Given the description of an element on the screen output the (x, y) to click on. 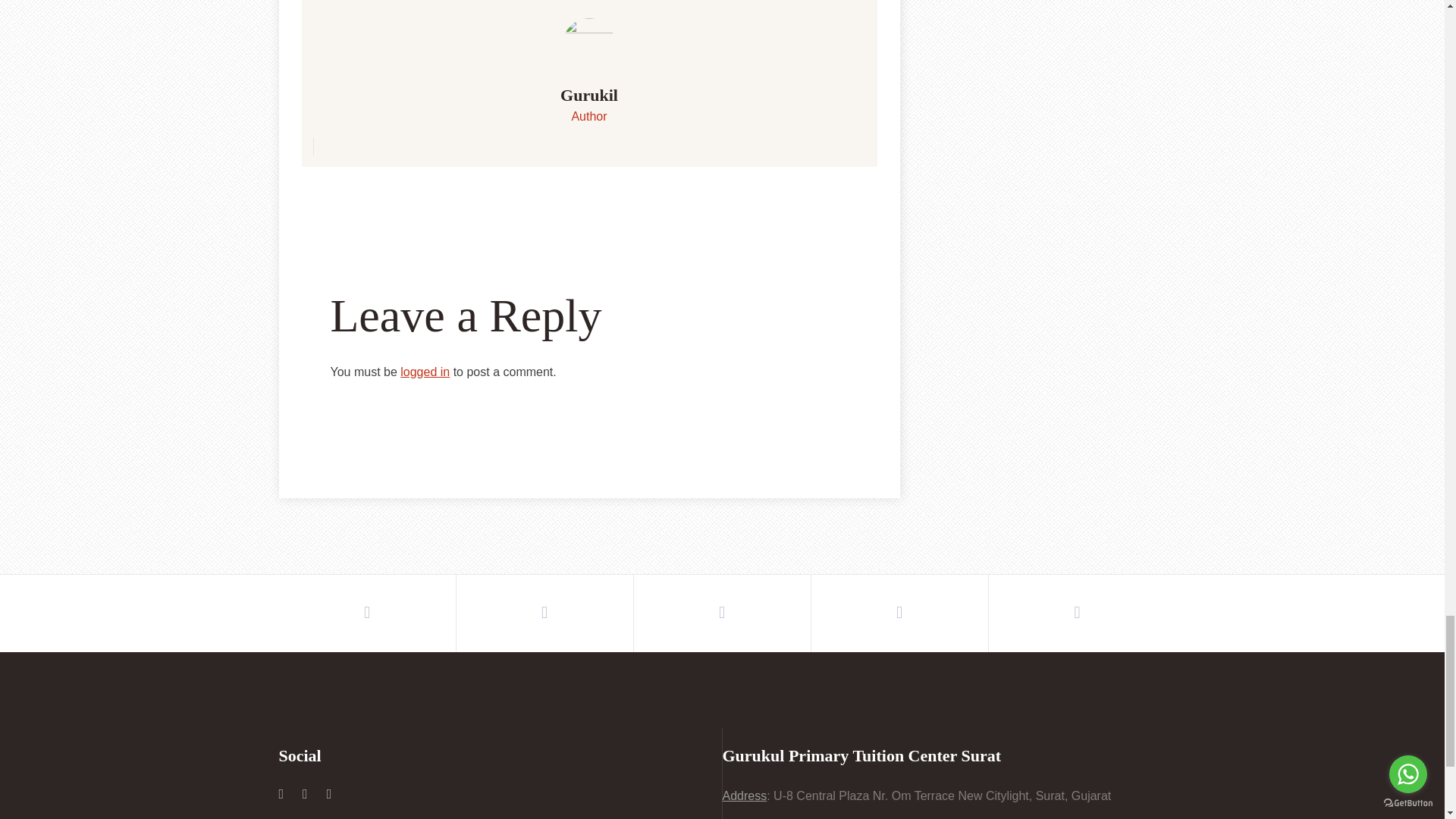
Posts by gurukil (588, 94)
